Given the description of an element on the screen output the (x, y) to click on. 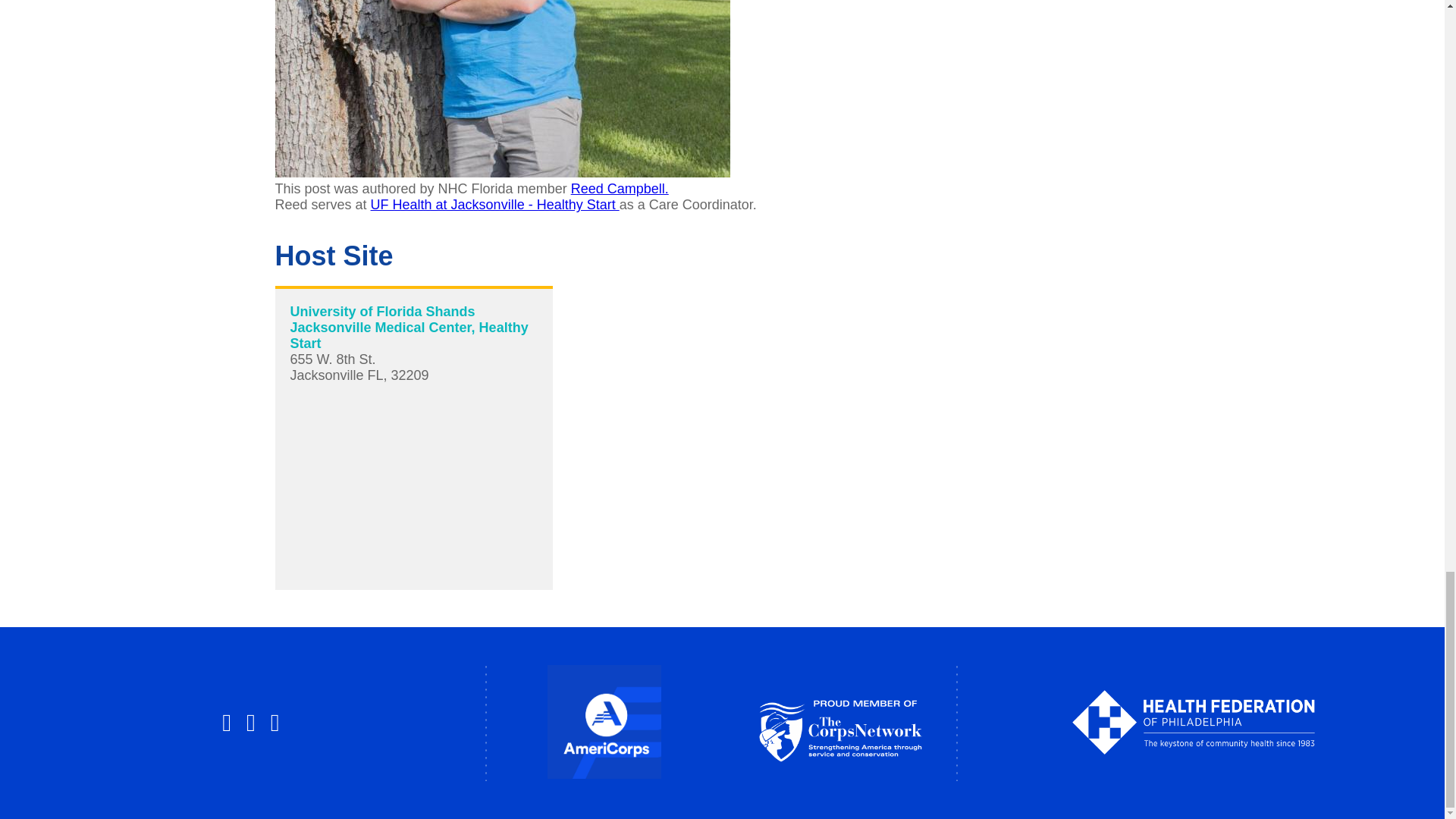
Reed Campbell. (619, 188)
UF Health at Jacksonville - Healthy Start (495, 204)
